Given the description of an element on the screen output the (x, y) to click on. 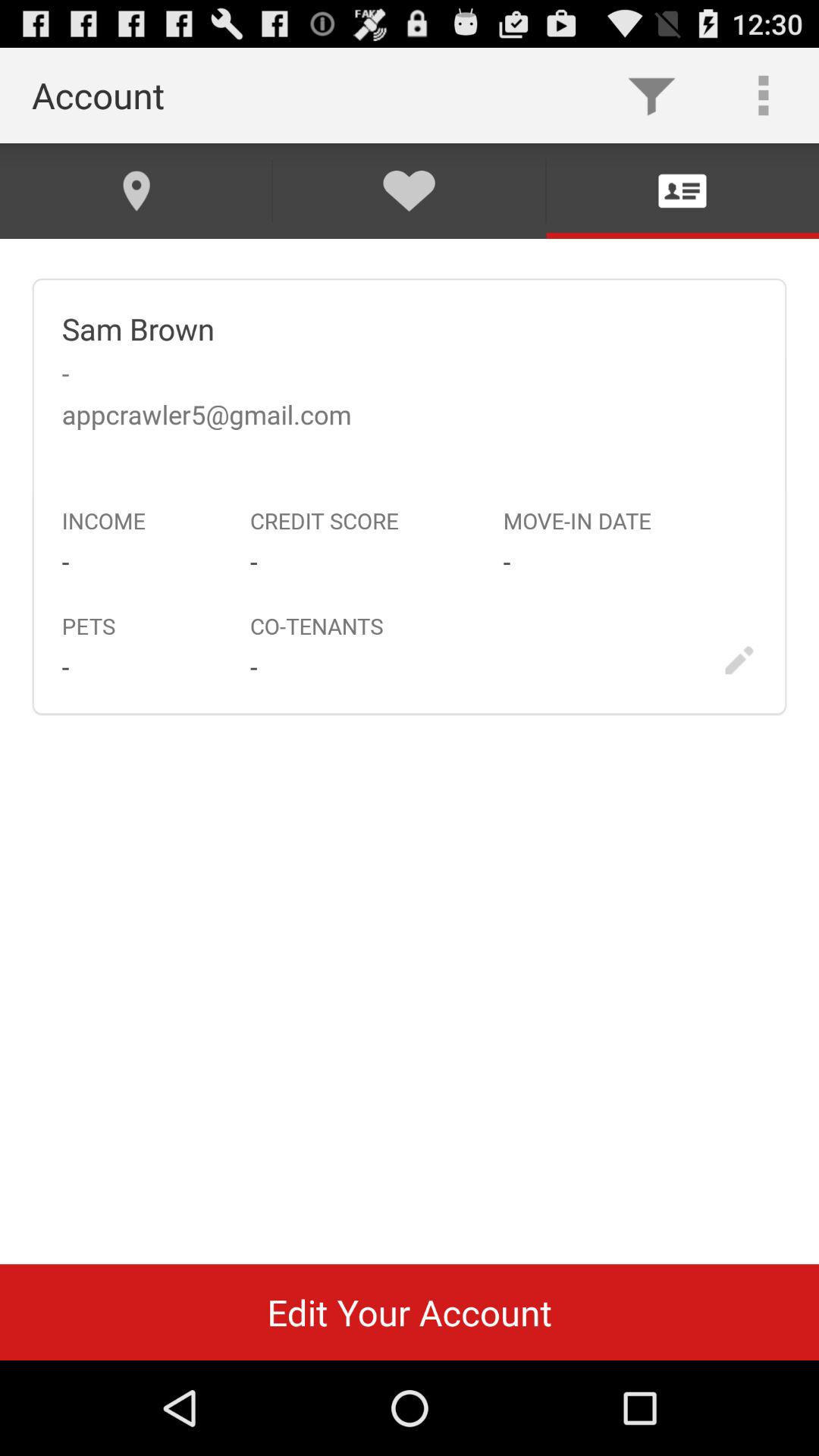
choose edit your account icon (409, 1312)
